Given the description of an element on the screen output the (x, y) to click on. 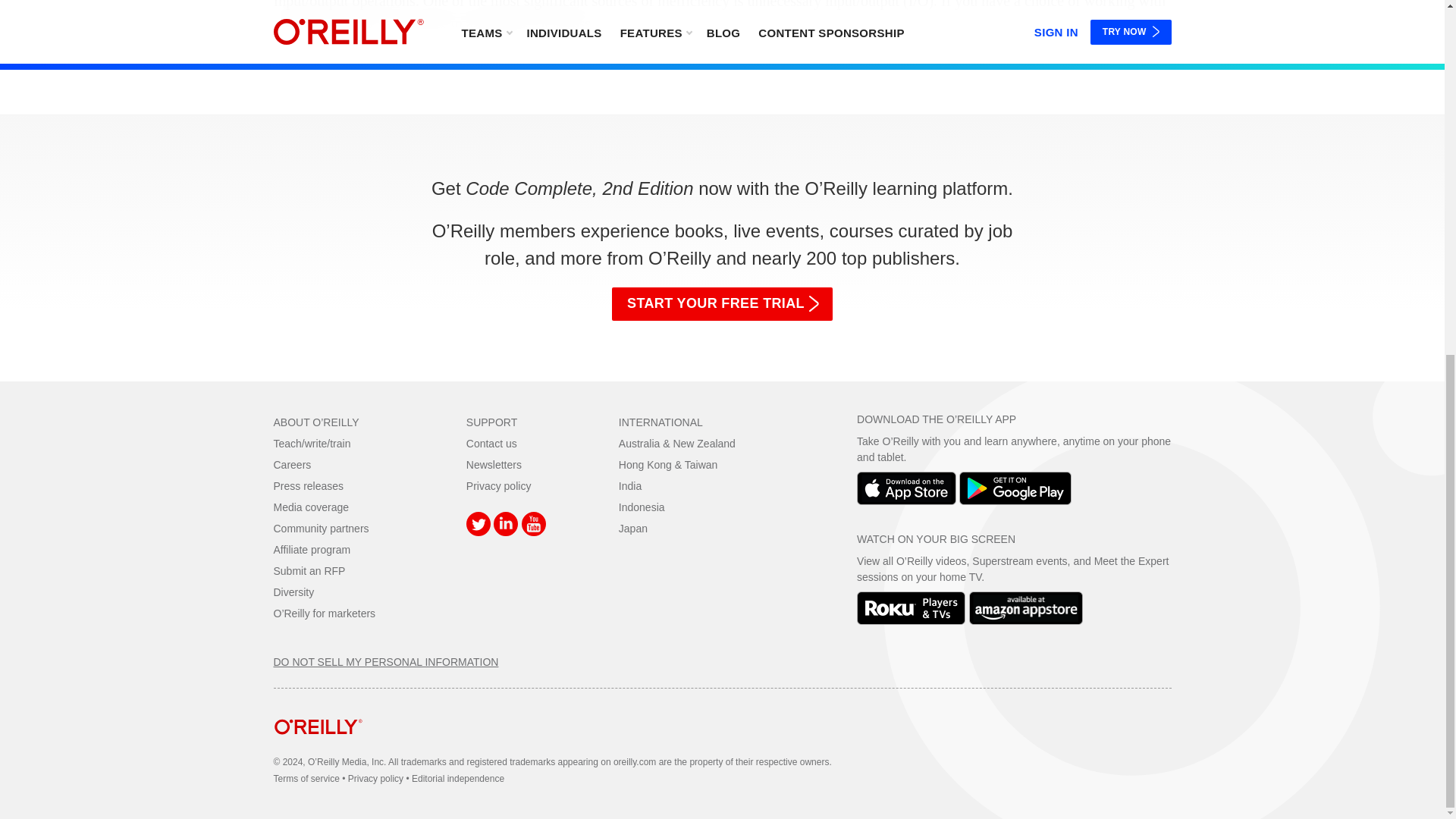
Contact us (490, 443)
Diversity (293, 592)
home page (317, 745)
Affiliate program (311, 549)
Kinds of Fat and Molasses (721, 18)
Submit an RFP (309, 571)
START YOUR FREE TRIAL (721, 304)
Common Sources of Inefficiency (721, 17)
Community partners (320, 528)
Press releases (308, 485)
Careers (292, 464)
Media coverage (311, 507)
Newsletters (493, 464)
SUPPORT (490, 422)
Privacy policy (498, 485)
